Given the description of an element on the screen output the (x, y) to click on. 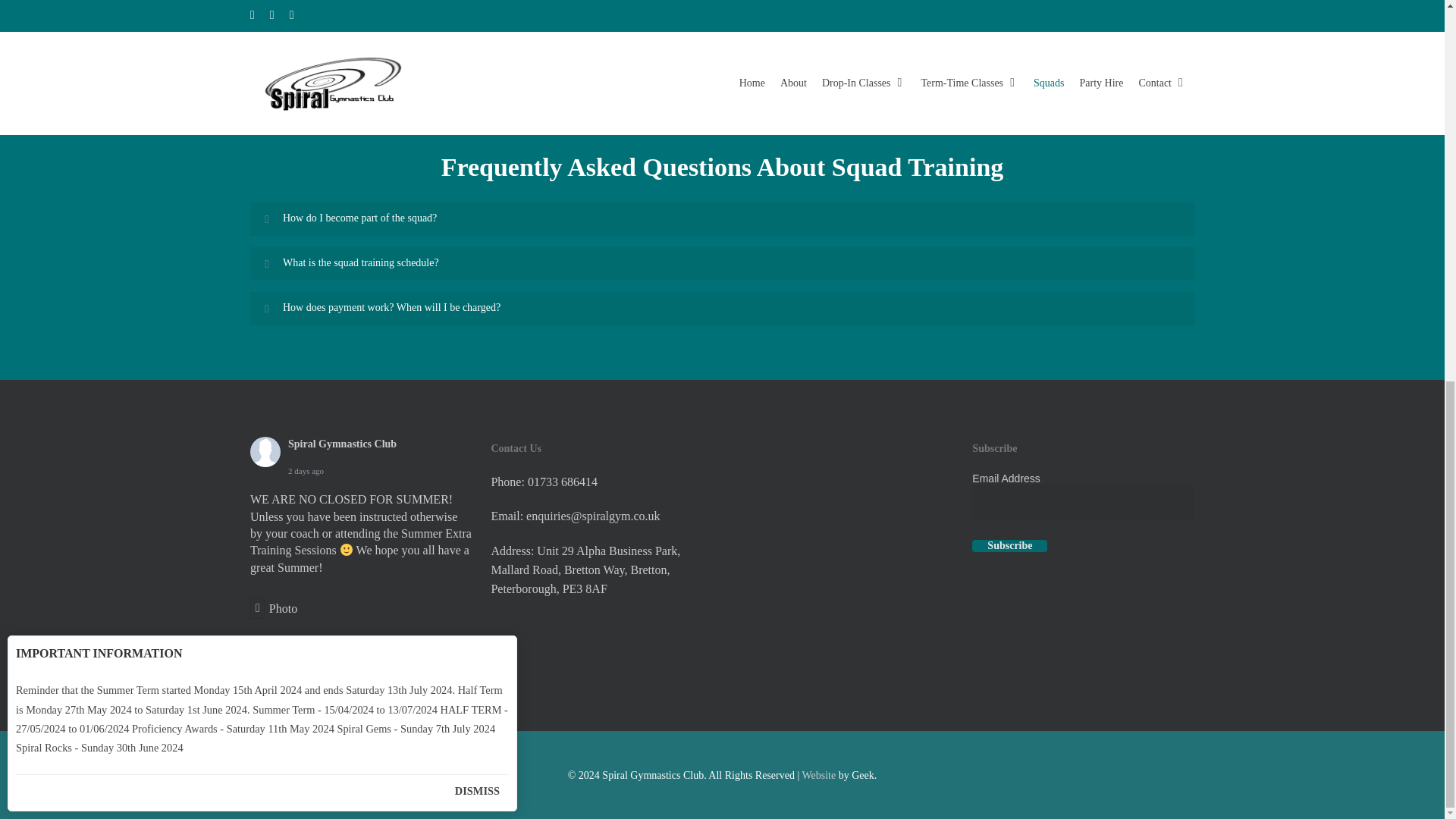
Photo (273, 608)
Spiral Gymnastics Club (342, 443)
Subscribe (1009, 545)
Share (330, 651)
What is the squad training schedule? (721, 263)
View on Facebook (281, 651)
Subscribe (1009, 545)
How do I become part of the squad? (721, 218)
Share (330, 651)
How does payment work? When will I be charged? (721, 308)
Website (818, 775)
View on Facebook (281, 651)
